Given the description of an element on the screen output the (x, y) to click on. 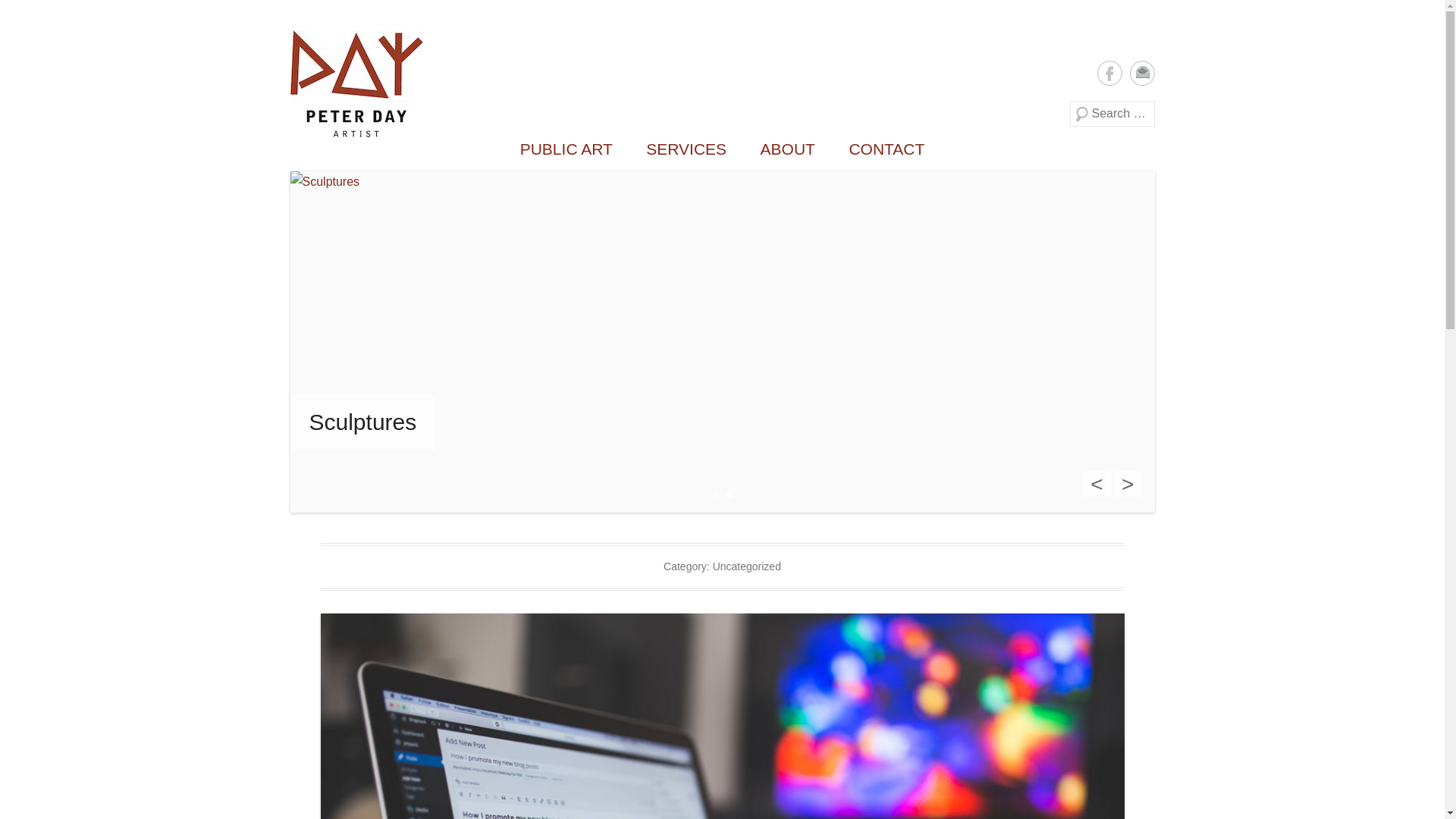
Facebook Element type: text (1108, 72)
2 Element type: text (728, 494)
< Element type: text (1096, 483)
Sculptures Element type: text (362, 422)
1 Element type: text (714, 494)
Skip to content Element type: text (289, 29)
Search Element type: text (32, 15)
SERVICES Element type: text (685, 148)
PUBLIC ART Element type: text (566, 148)
Email Element type: text (1141, 72)
> Element type: text (1127, 483)
Sculptures Element type: hover (721, 341)
CONTACT Element type: text (886, 148)
Primary Menu Element type: text (289, 12)
Peter Day Environmental Art + Design Element type: text (630, 56)
ABOUT Element type: text (787, 148)
